Given the description of an element on the screen output the (x, y) to click on. 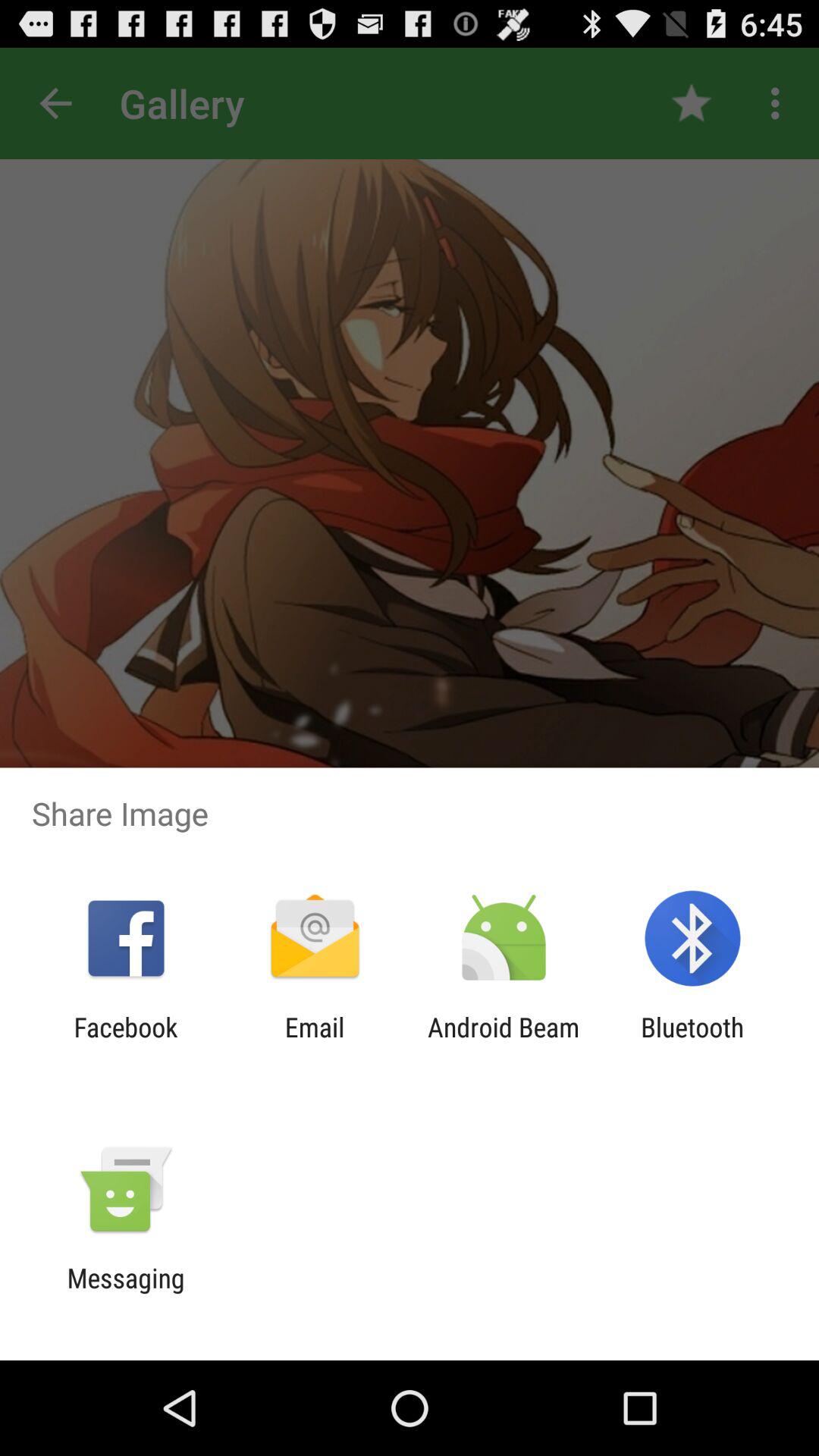
press icon next to facebook (314, 1042)
